Given the description of an element on the screen output the (x, y) to click on. 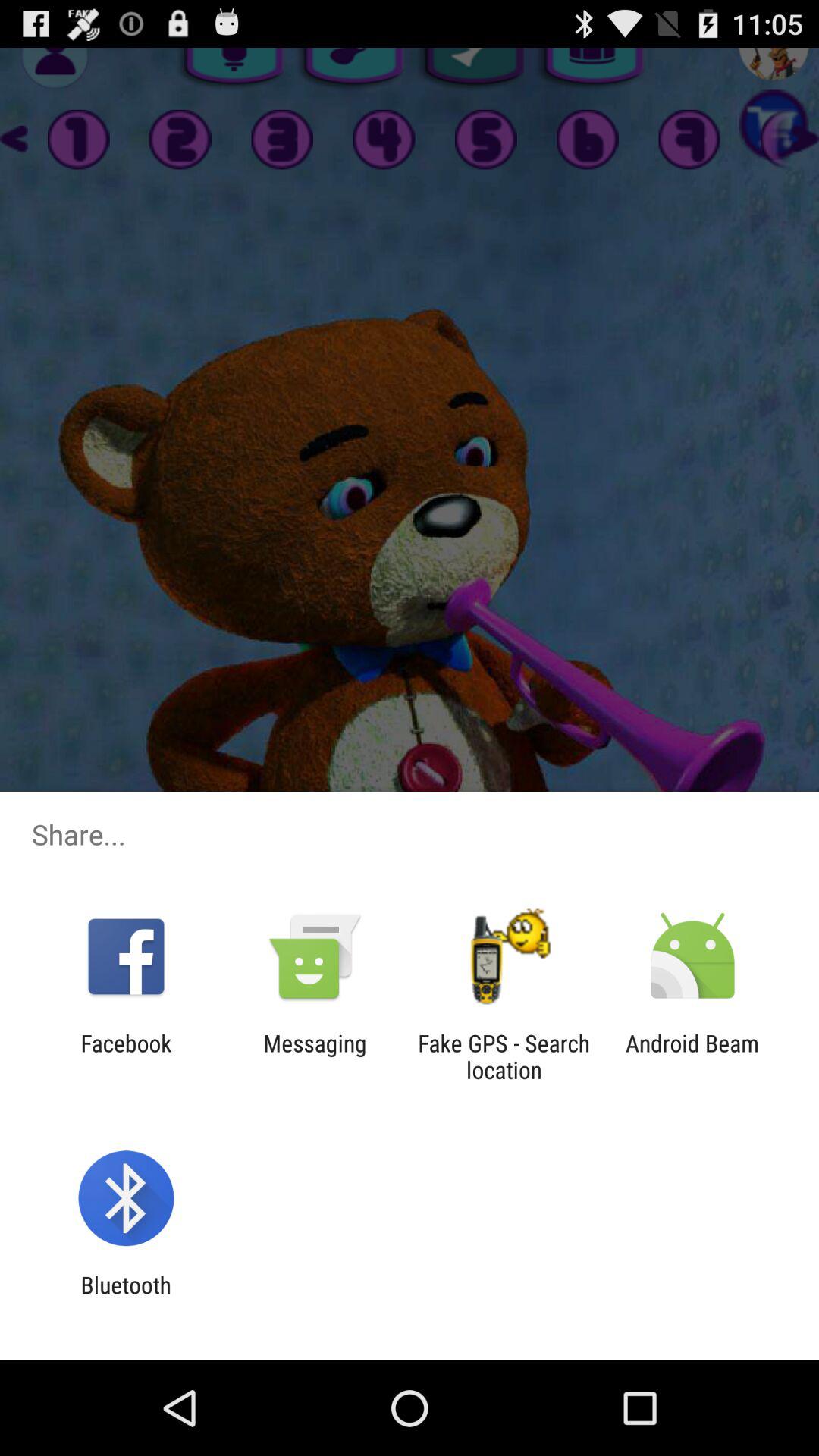
jump until messaging icon (314, 1056)
